Given the description of an element on the screen output the (x, y) to click on. 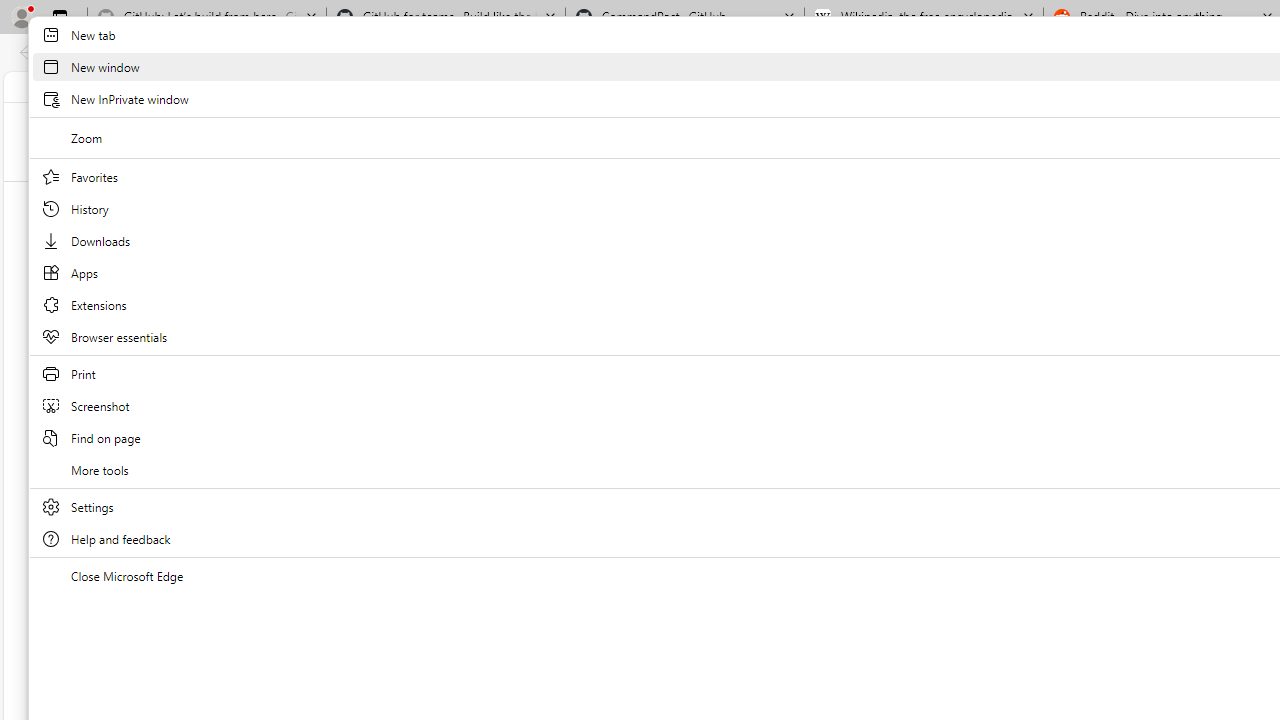
ElectronicsExpand: Electronics (870, 199)
